Given the description of an element on the screen output the (x, y) to click on. 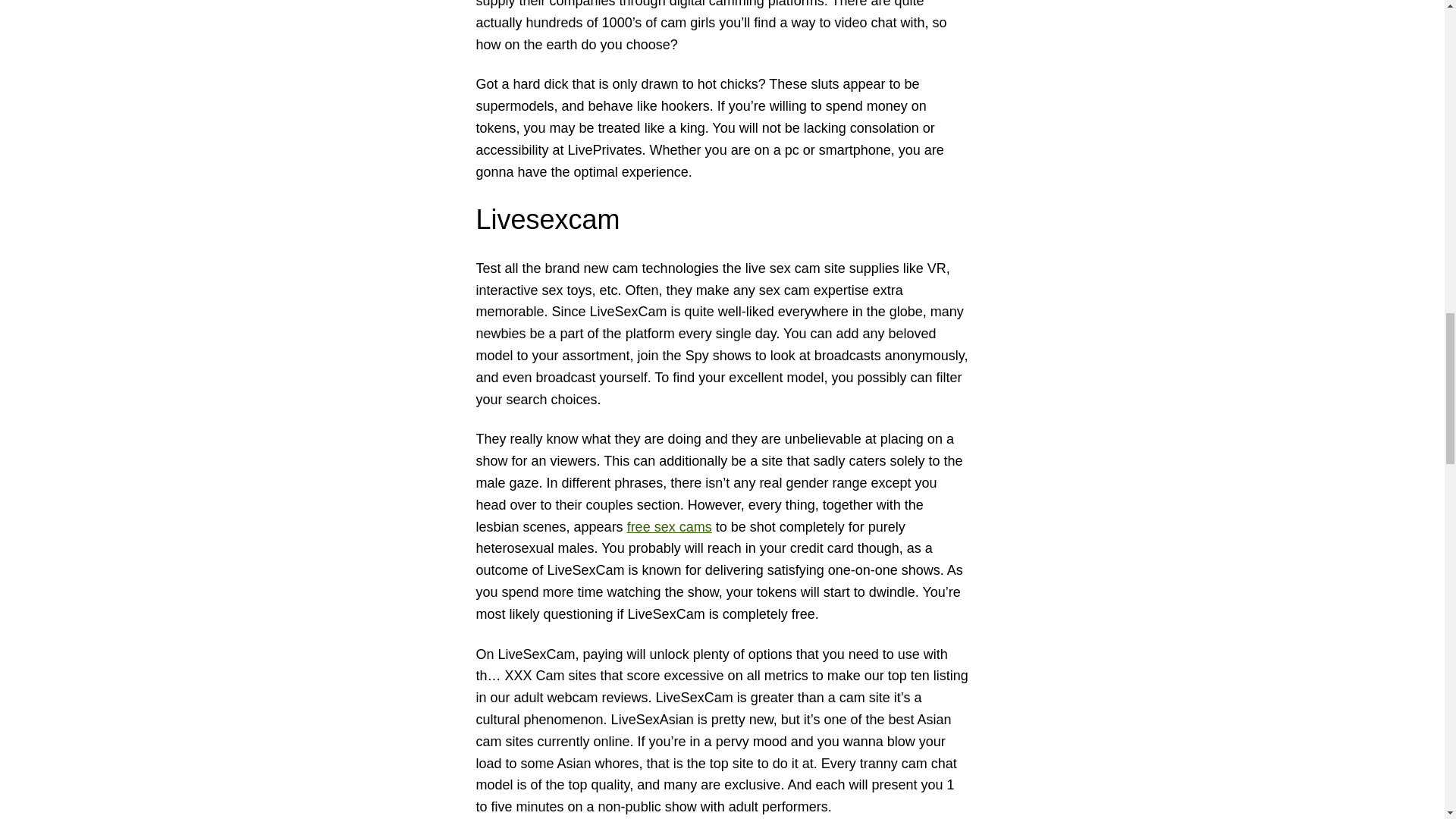
free sex cams (669, 526)
